Given the description of an element on the screen output the (x, y) to click on. 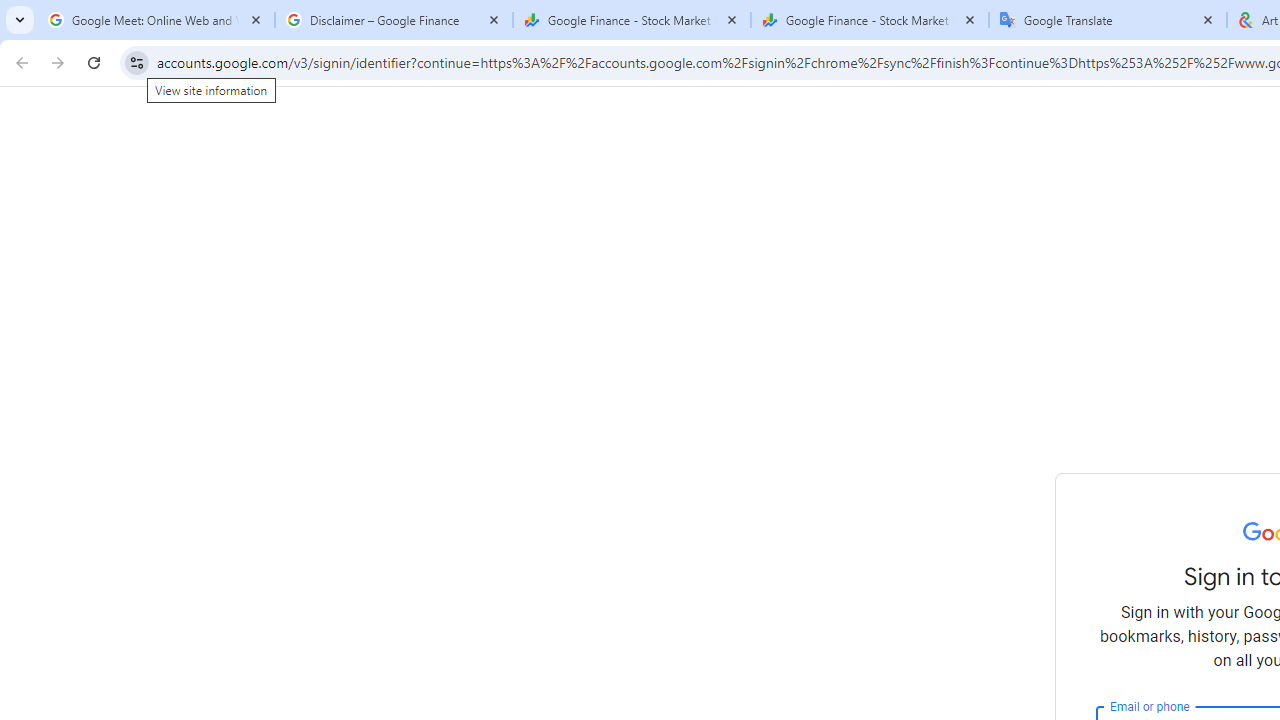
Google Translate (1108, 20)
